Given the description of an element on the screen output the (x, y) to click on. 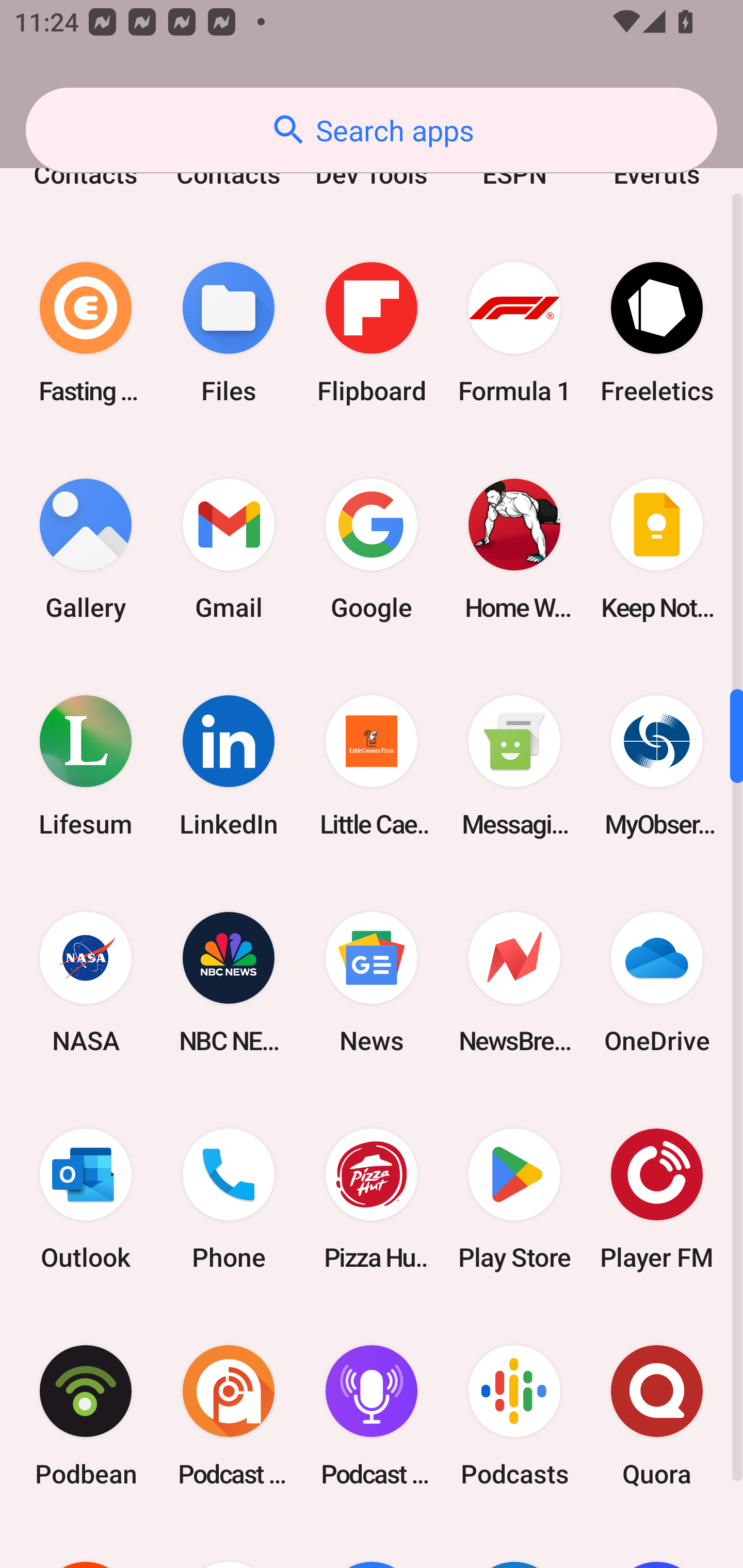
  Search apps (371, 130)
Fasting Coach (85, 332)
Files (228, 332)
Flipboard (371, 332)
Formula 1 (514, 332)
Freeletics (656, 332)
Gallery (85, 548)
Gmail (228, 548)
Google (371, 548)
Home Workout (514, 548)
Keep Notes (656, 548)
Lifesum (85, 765)
LinkedIn (228, 765)
Little Caesars Pizza (371, 765)
Messaging (514, 765)
MyObservatory (656, 765)
NASA (85, 982)
NBC NEWS (228, 982)
News (371, 982)
NewsBreak (514, 982)
OneDrive (656, 982)
Outlook (85, 1199)
Phone (228, 1199)
Pizza Hut HK & Macau (371, 1199)
Play Store (514, 1199)
Player FM (656, 1199)
Podbean (85, 1415)
Podcast Addict (228, 1415)
Podcast Player (371, 1415)
Podcasts (514, 1415)
Quora (656, 1415)
